Given the description of an element on the screen output the (x, y) to click on. 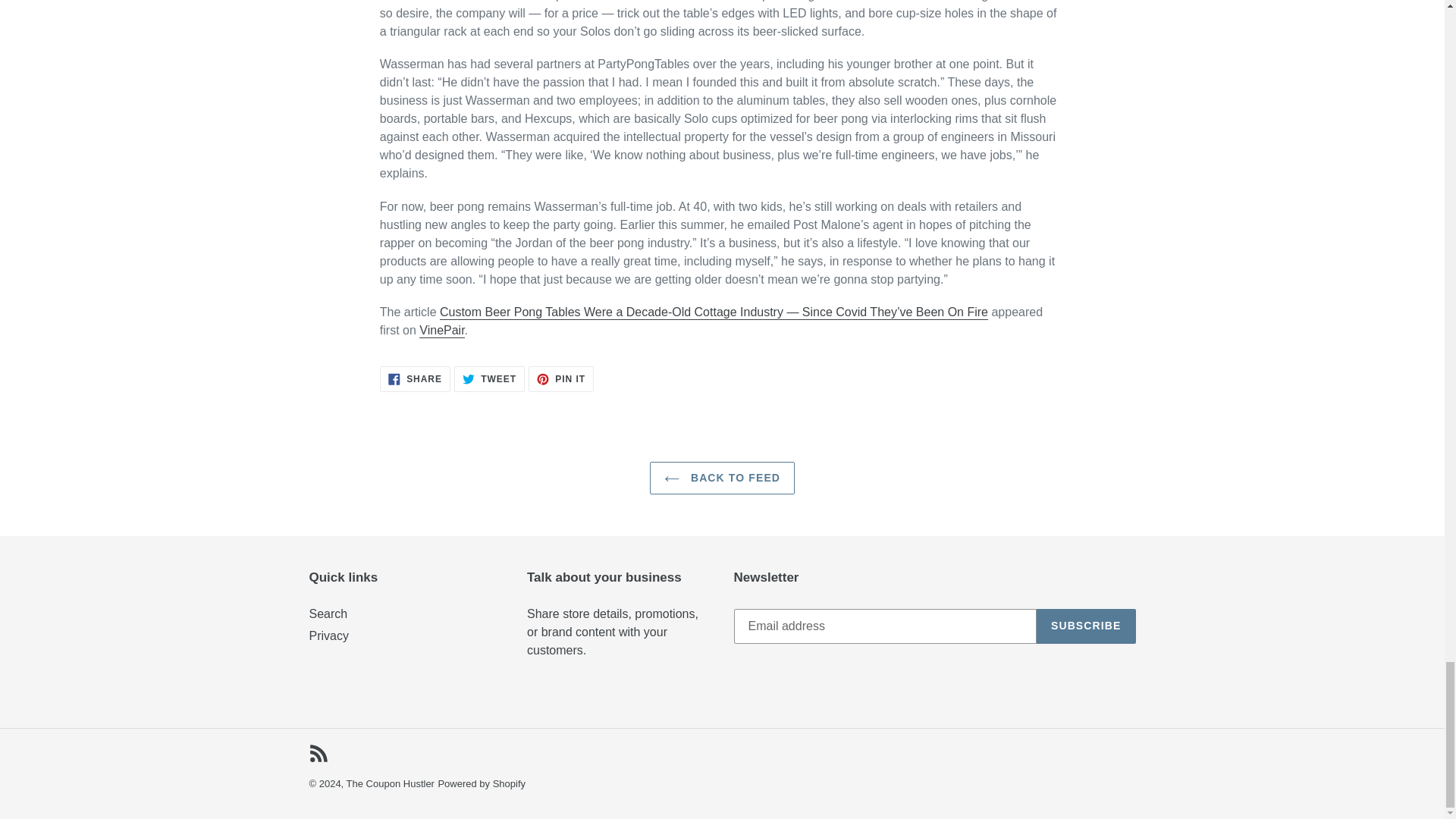
VinePair (441, 330)
BACK TO FEED (721, 477)
RSS (489, 379)
The Coupon Hustler (414, 379)
Search (318, 752)
Privacy (389, 783)
SUBSCRIBE (561, 379)
